Given the description of an element on the screen output the (x, y) to click on. 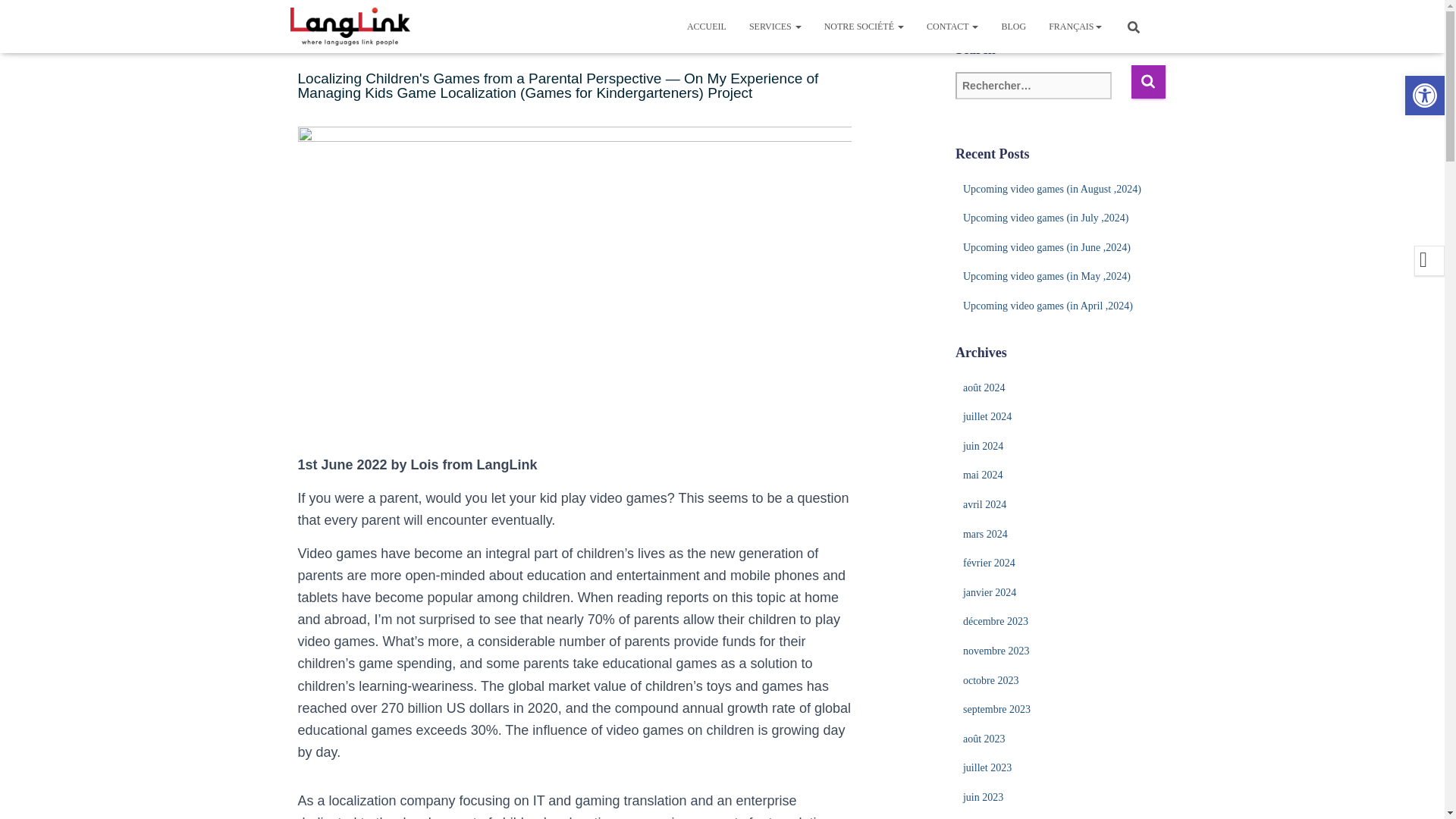
Accueil (706, 26)
Rechercher (1148, 81)
ACCUEIL (706, 26)
SERVICES (775, 26)
Rechercher (1148, 81)
Services (775, 26)
CONTACT (952, 26)
BLOG (1013, 26)
LangLink (350, 26)
